Given the description of an element on the screen output the (x, y) to click on. 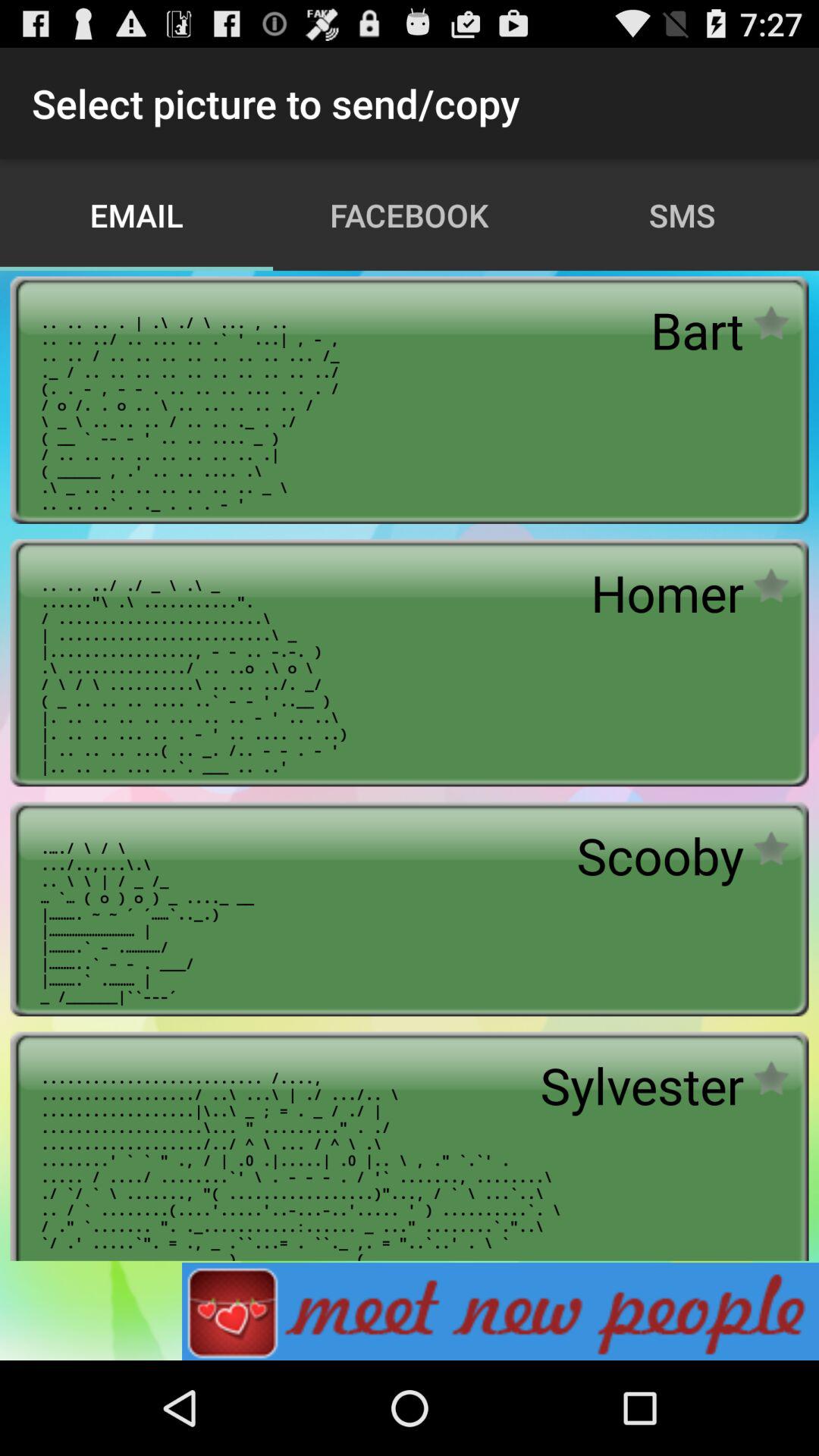
scroll to the bart app (696, 330)
